Given the description of an element on the screen output the (x, y) to click on. 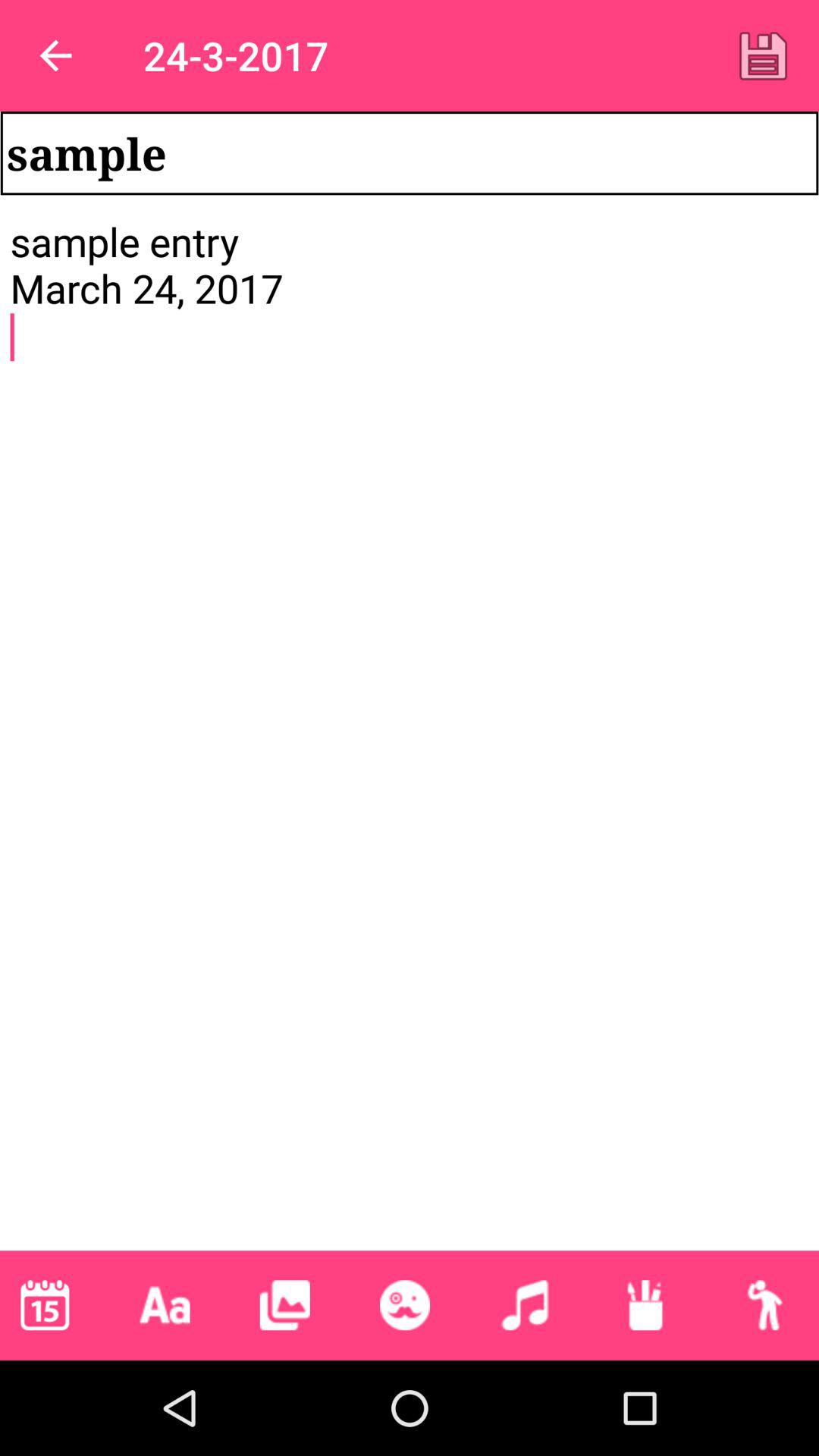
tap sample entry march (409, 732)
